Given the description of an element on the screen output the (x, y) to click on. 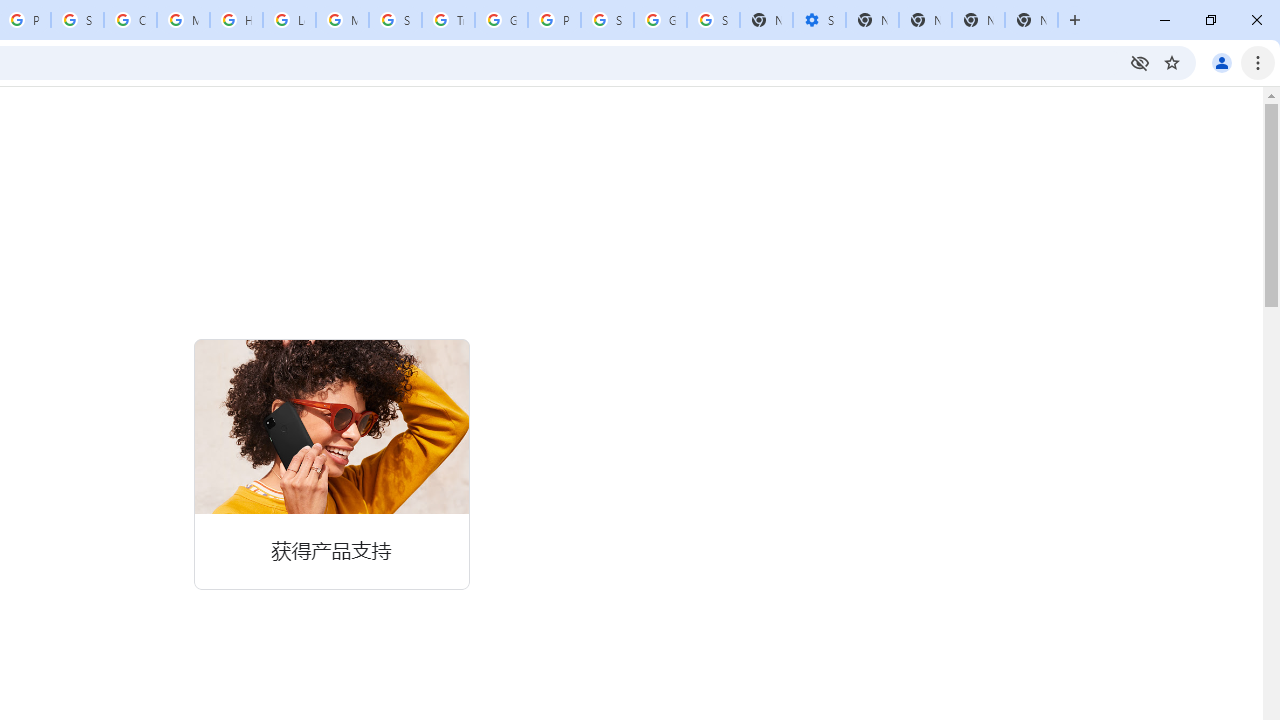
Sign in - Google Accounts (77, 20)
Search our Doodle Library Collection - Google Doodles (395, 20)
Google Ads - Sign in (501, 20)
